Given the description of an element on the screen output the (x, y) to click on. 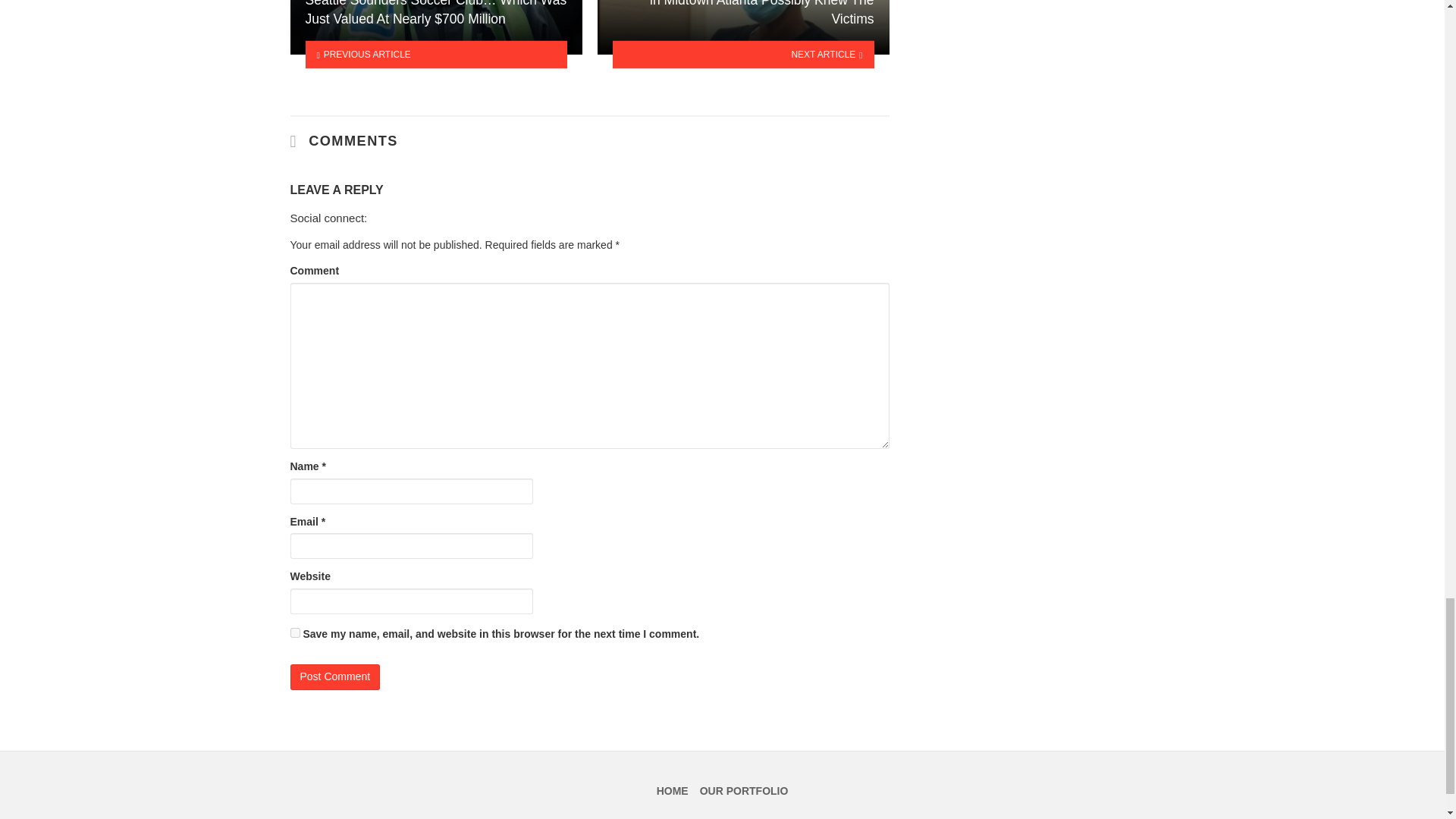
Post Comment (334, 677)
yes (294, 633)
